Given the description of an element on the screen output the (x, y) to click on. 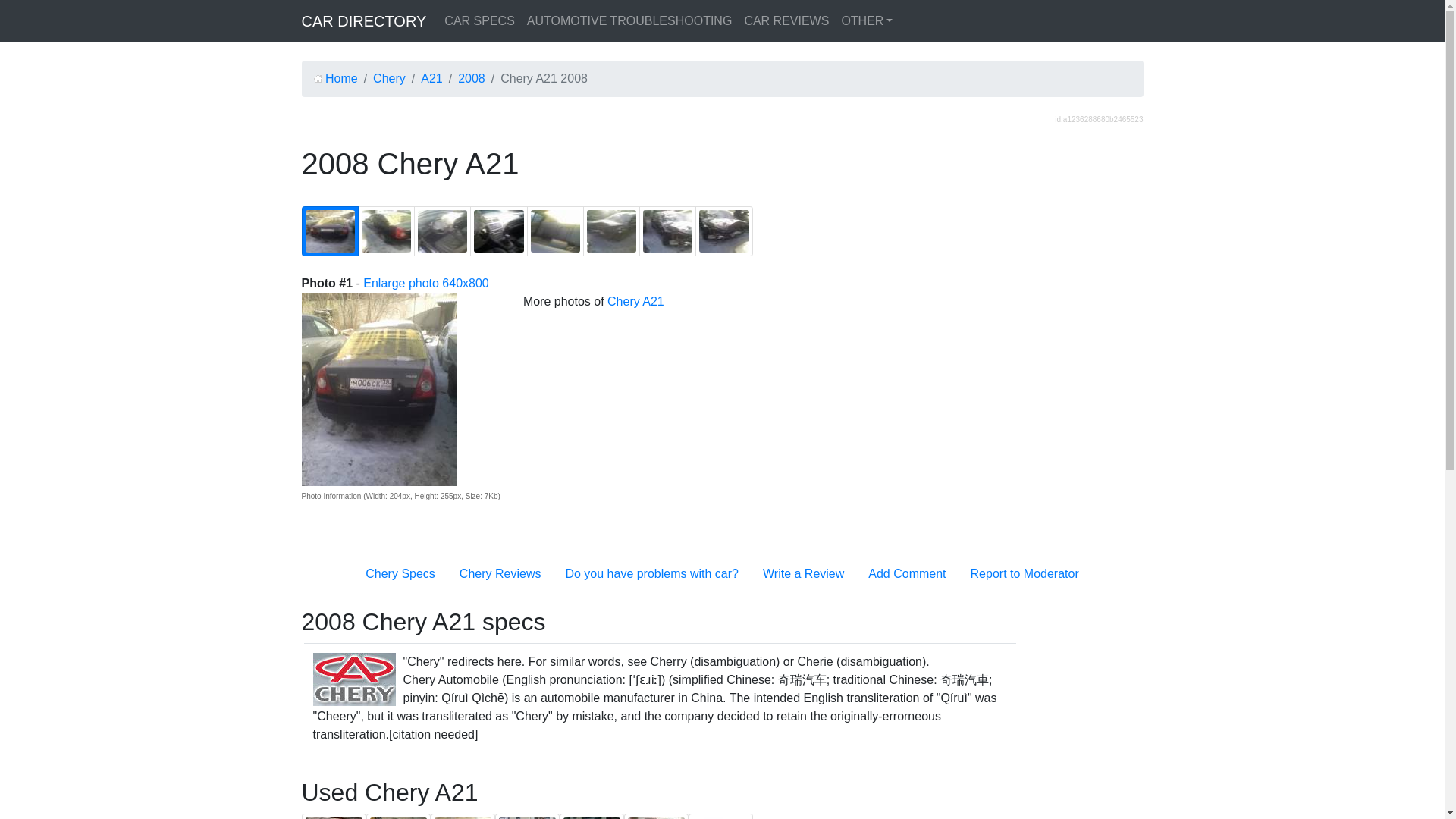
2008 (471, 78)
Add Comment (905, 573)
Enlarge photo 640x800 (424, 282)
A21 (431, 78)
Chery Specs (400, 573)
Report to Moderator (1024, 573)
Chery Reviews (500, 573)
CAR REVIEWS (786, 20)
Home (336, 78)
AUTOMOTIVE TROUBLESHOOTING (629, 20)
